Given the description of an element on the screen output the (x, y) to click on. 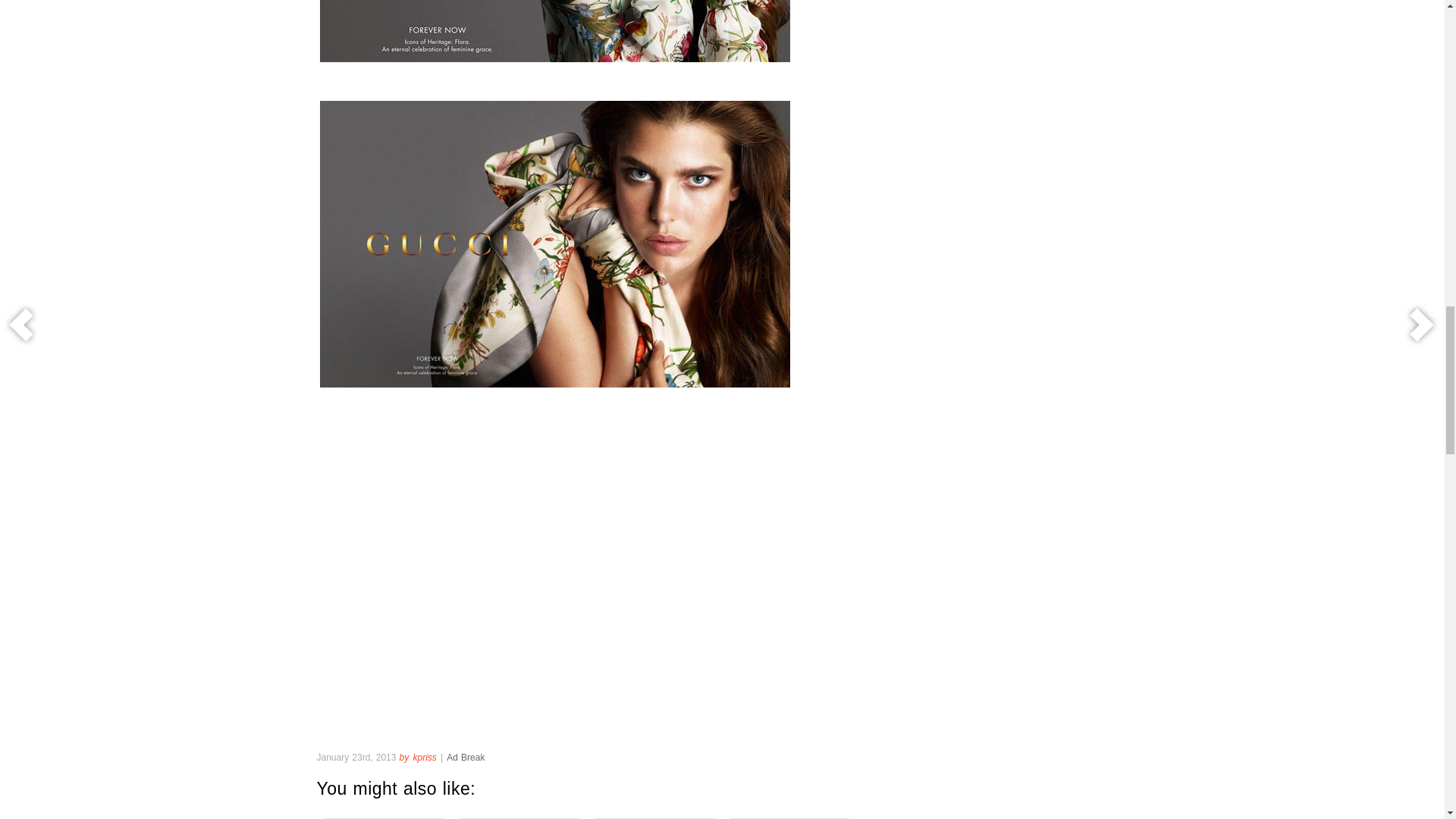
kpriss (425, 757)
Ad Break (464, 757)
What Shoes You Need For Spring Summer 2015? (789, 814)
